Given the description of an element on the screen output the (x, y) to click on. 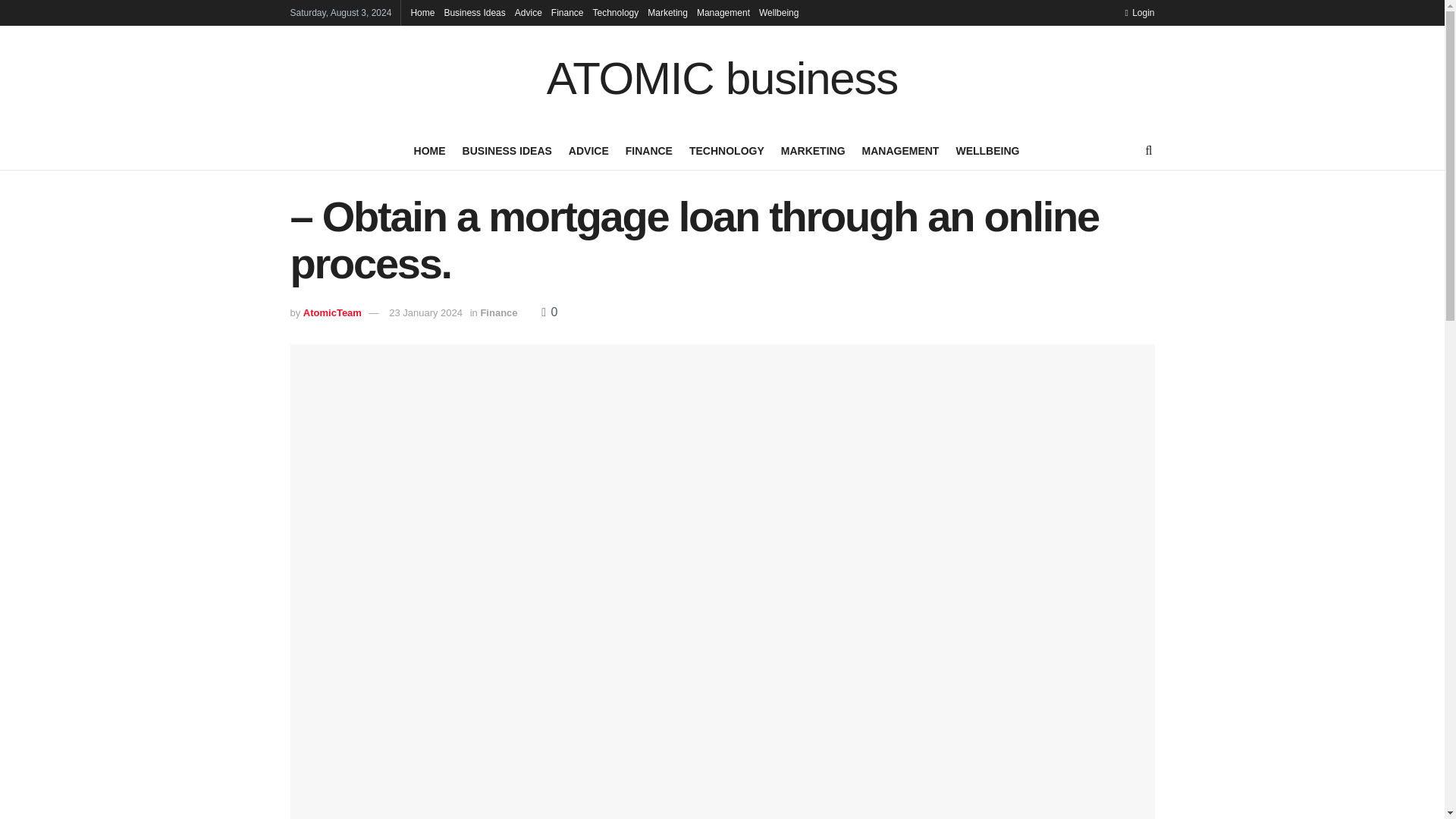
HOME (429, 150)
AtomicTeam (331, 312)
Business Ideas (474, 12)
Home (421, 12)
ATOMIC business (722, 78)
23 January 2024 (425, 312)
WELLBEING (987, 150)
0 (549, 311)
ADVICE (588, 150)
Management (723, 12)
MANAGEMENT (900, 150)
Login (1139, 12)
Wellbeing (777, 12)
MARKETING (812, 150)
Advice (528, 12)
